Given the description of an element on the screen output the (x, y) to click on. 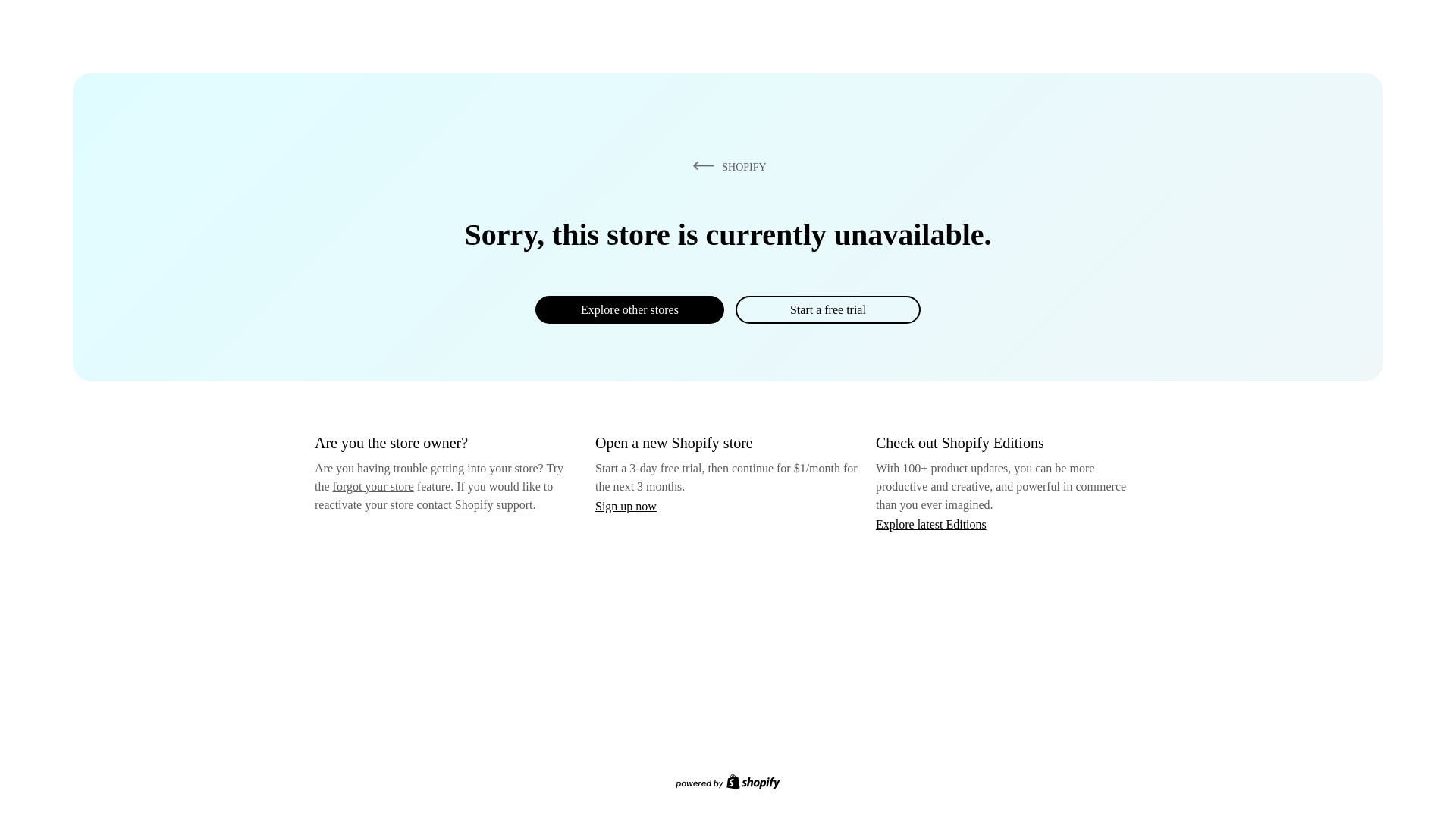
Start a free trial (827, 309)
Shopify support (493, 504)
forgot your store (373, 486)
Explore other stores (629, 309)
SHOPIFY (726, 166)
Sign up now (625, 505)
Explore latest Editions (931, 523)
